Given the description of an element on the screen output the (x, y) to click on. 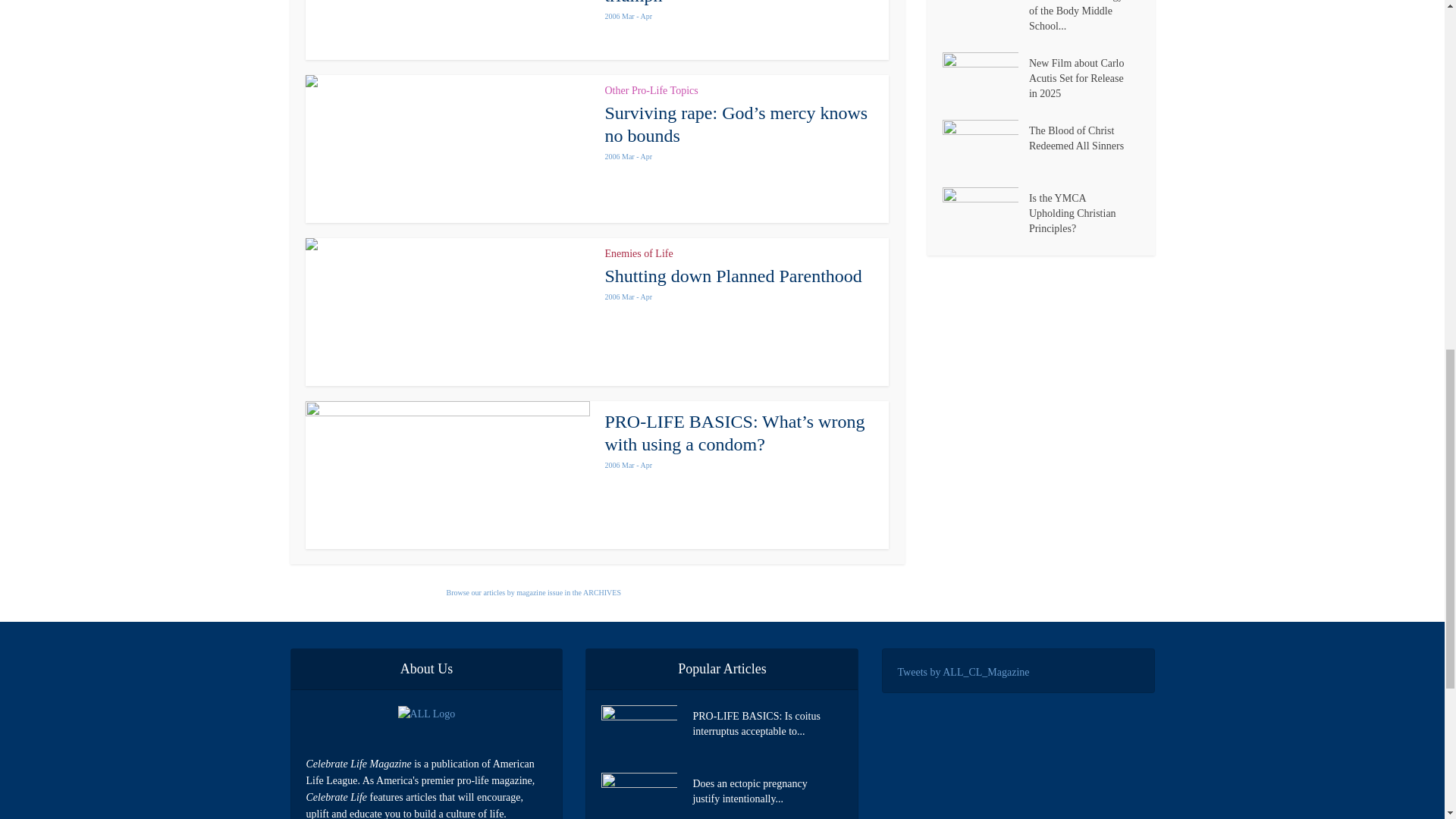
New Film about Carlo Acutis Set for Release in 2025 (984, 78)
Shutting down Planned Parenthood (733, 275)
New Film about Carlo Acutis Set for Release in 2025 (1084, 76)
